Given the description of an element on the screen output the (x, y) to click on. 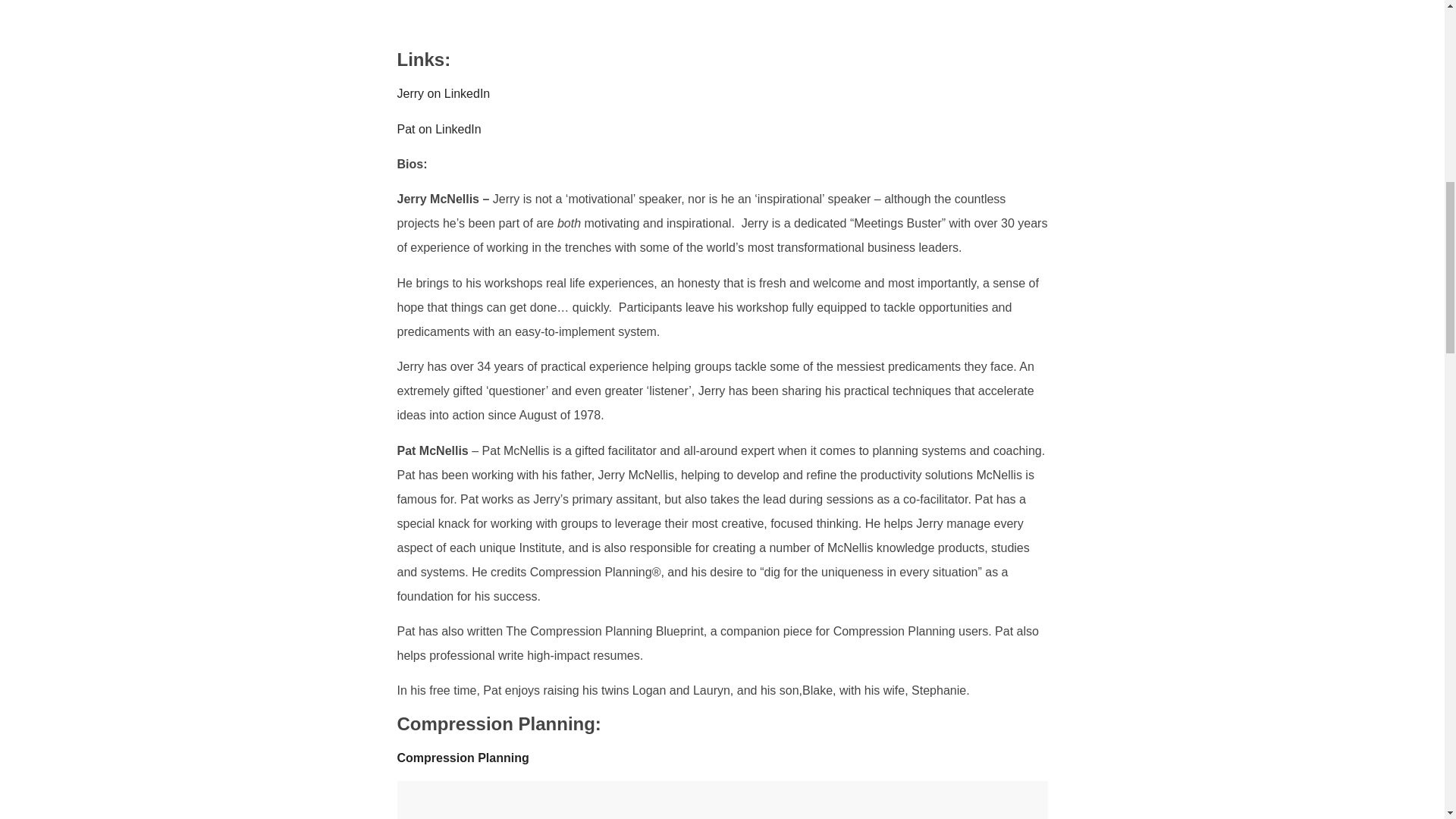
Jerry on LinkedIn (443, 92)
Pat on LinkedIn (439, 128)
Compression Planning (463, 757)
